Given the description of an element on the screen output the (x, y) to click on. 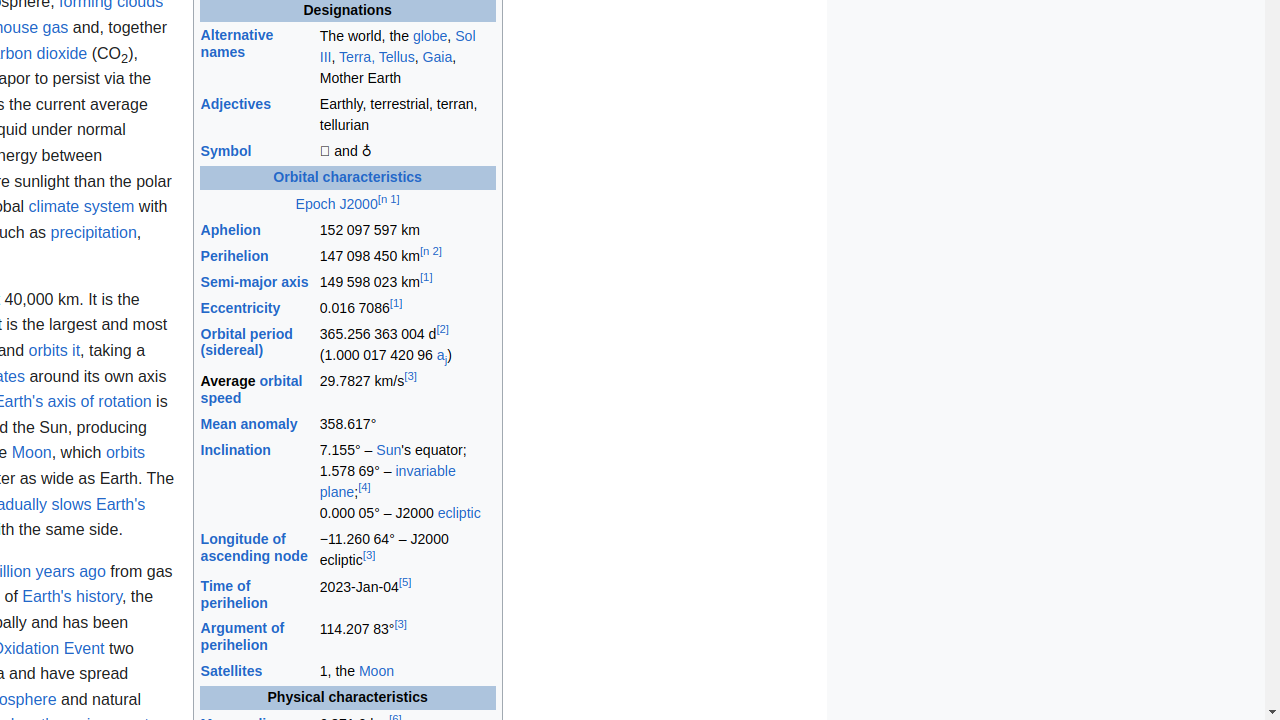
[5] Element type: link (405, 581)
J2000 Element type: link (358, 203)
7.155° – Sun's equator; 1.57869° – invariable plane;[4] 0.00005° – J2000 ecliptic Element type: table-cell (407, 481)
Epoch J2000[n 1] Element type: table-cell (347, 204)
Satellites Element type: link (231, 671)
